Given the description of an element on the screen output the (x, y) to click on. 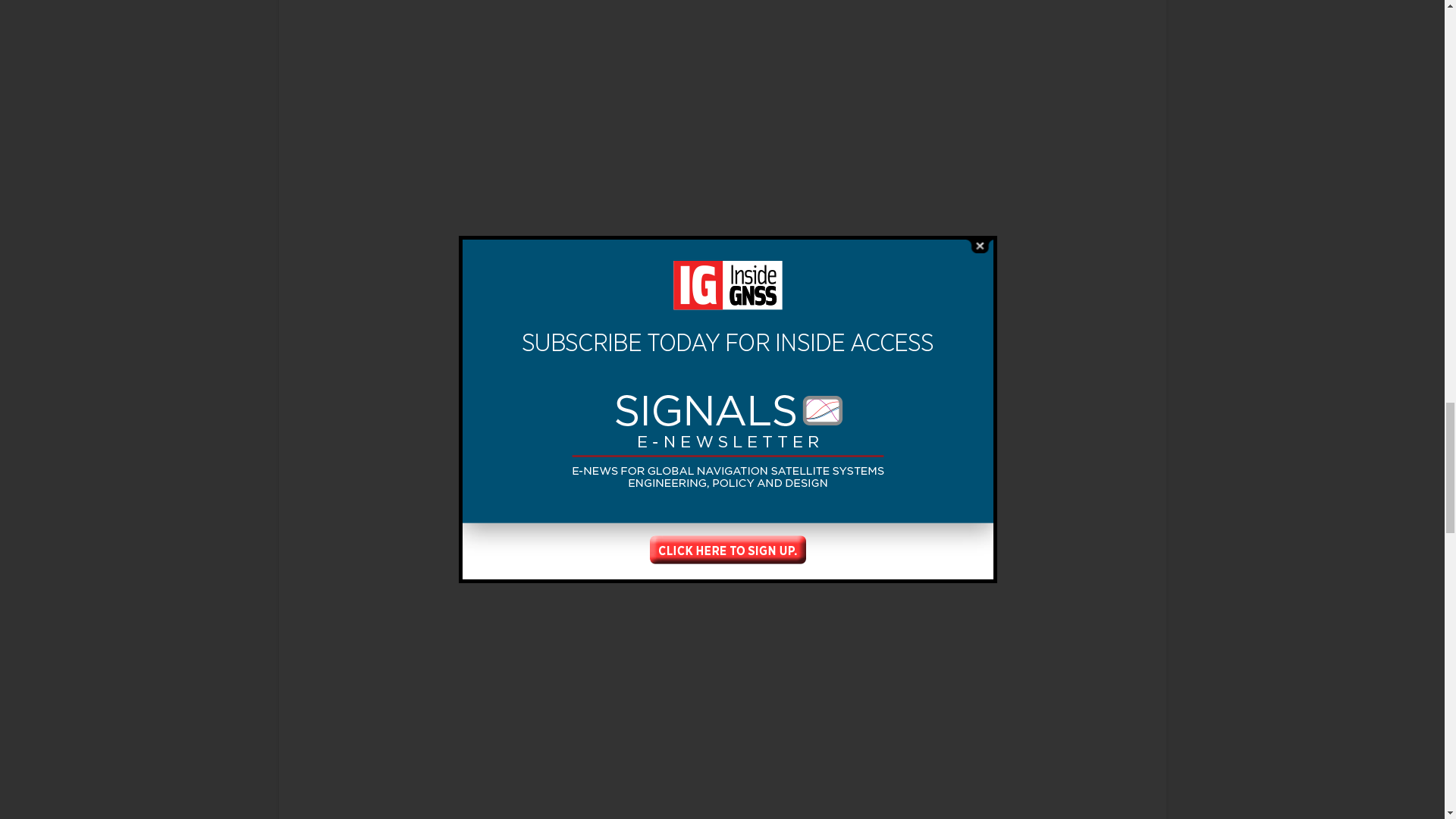
3rd party ad content (1030, 416)
3rd party ad content (1030, 210)
3rd party ad content (1030, 49)
